Given the description of an element on the screen output the (x, y) to click on. 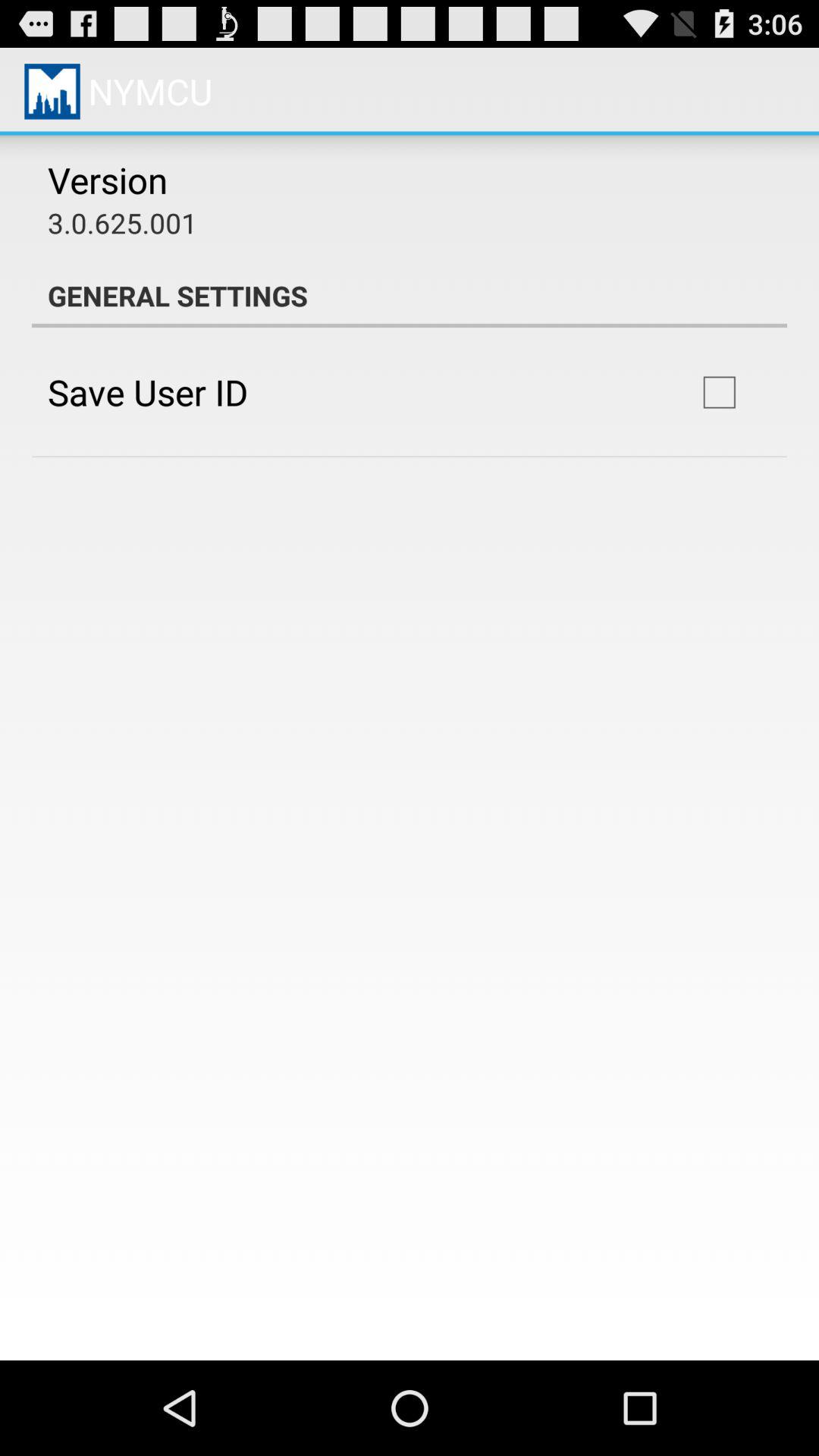
jump until save user id icon (147, 391)
